Given the description of an element on the screen output the (x, y) to click on. 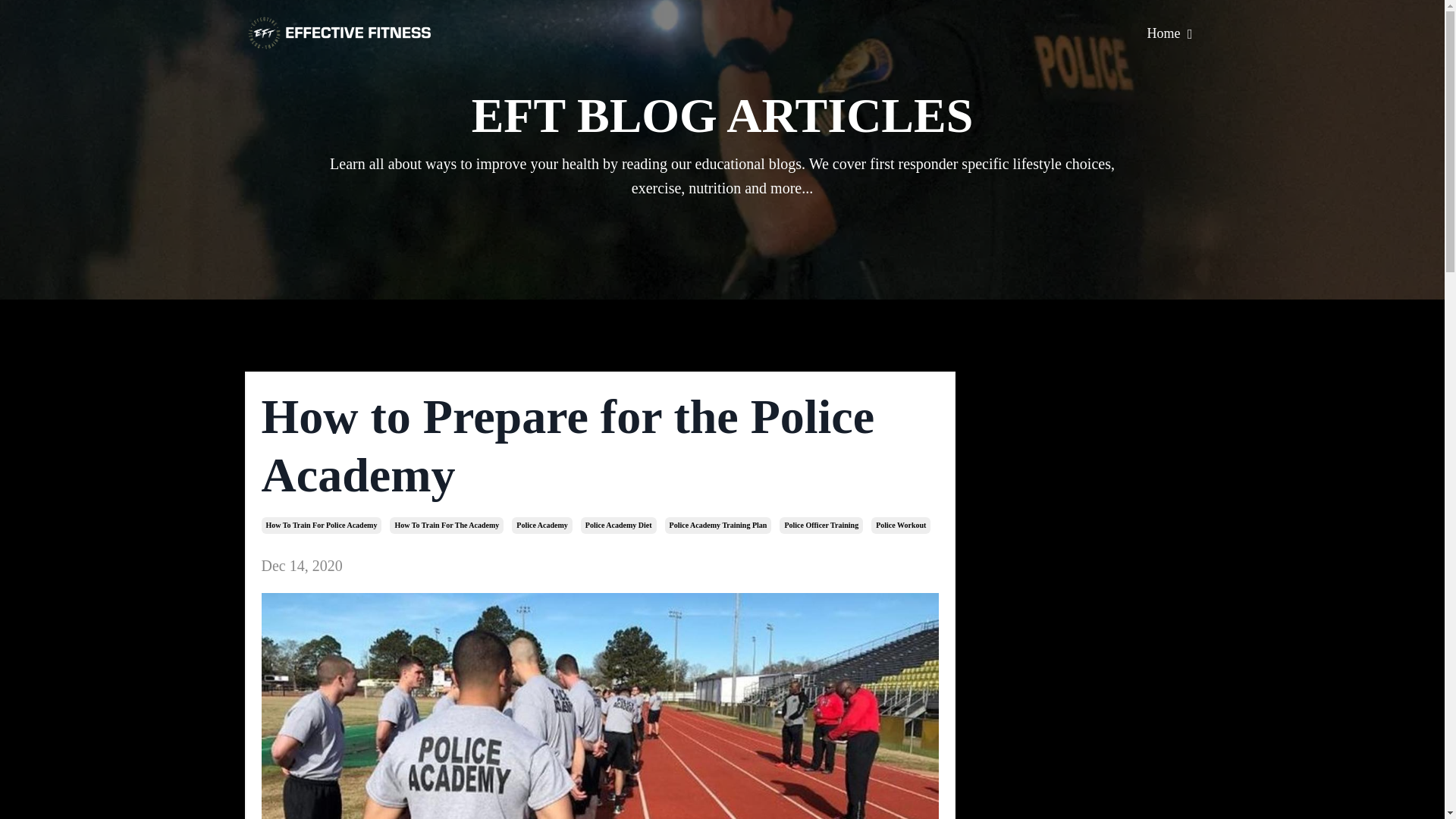
Home (1169, 33)
Police Academy Training Plan (718, 524)
Police Officer Training (820, 524)
How To Train For The Academy (446, 524)
How To Train For Police Academy (320, 524)
Police Academy (542, 524)
Police Workout (900, 524)
Police Academy Diet (618, 524)
